Given the description of an element on the screen output the (x, y) to click on. 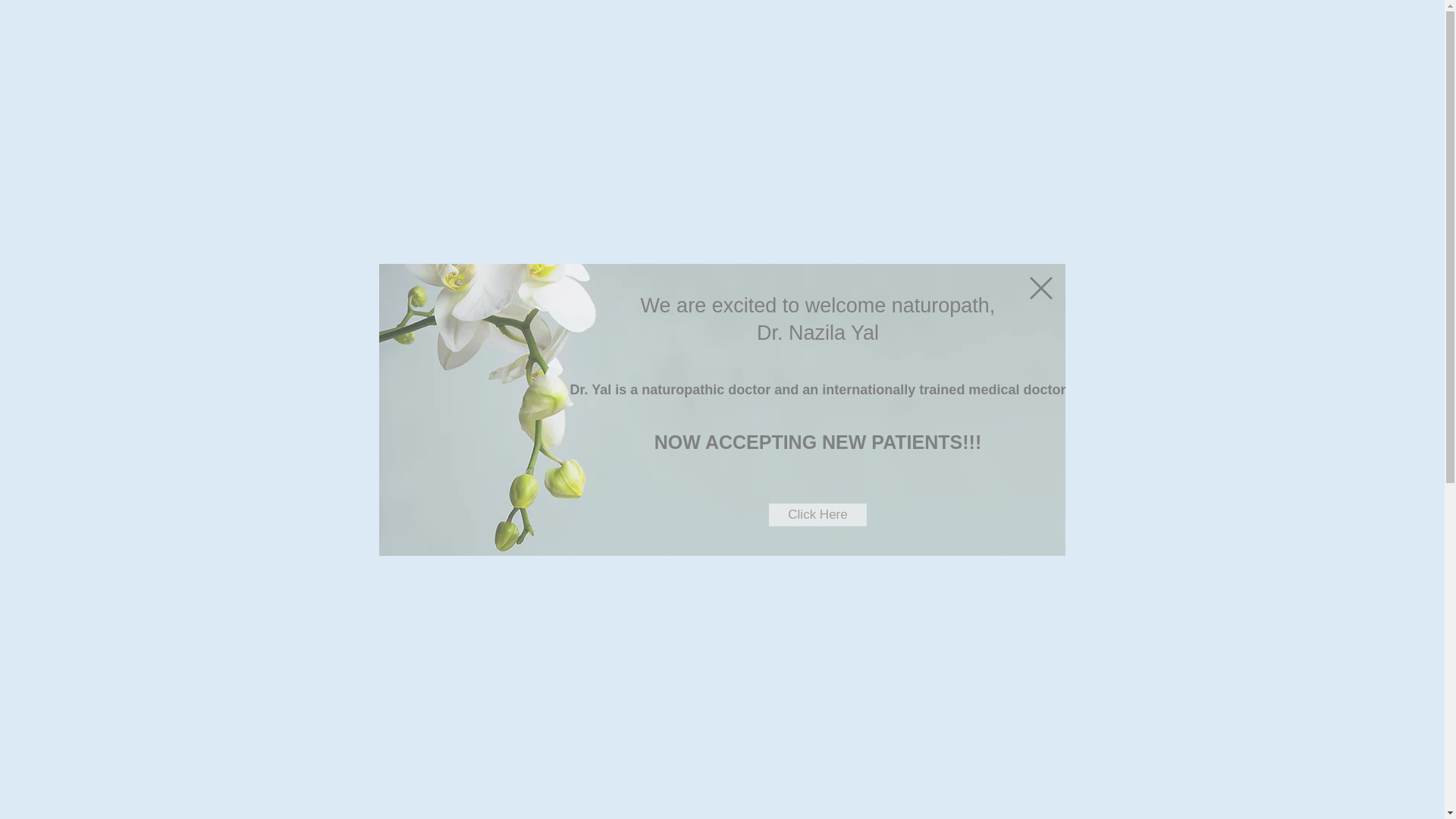
HOME (379, 223)
MASSAGE (556, 158)
ABOUT (436, 223)
THE WELLNESS GR (581, 125)
OUP AURORA (924, 125)
CHIROPRACTIC (459, 158)
SERVICES (507, 223)
PHYSIOTHERAPY  (662, 158)
Back to site (1040, 287)
TEAM (572, 223)
